Given the description of an element on the screen output the (x, y) to click on. 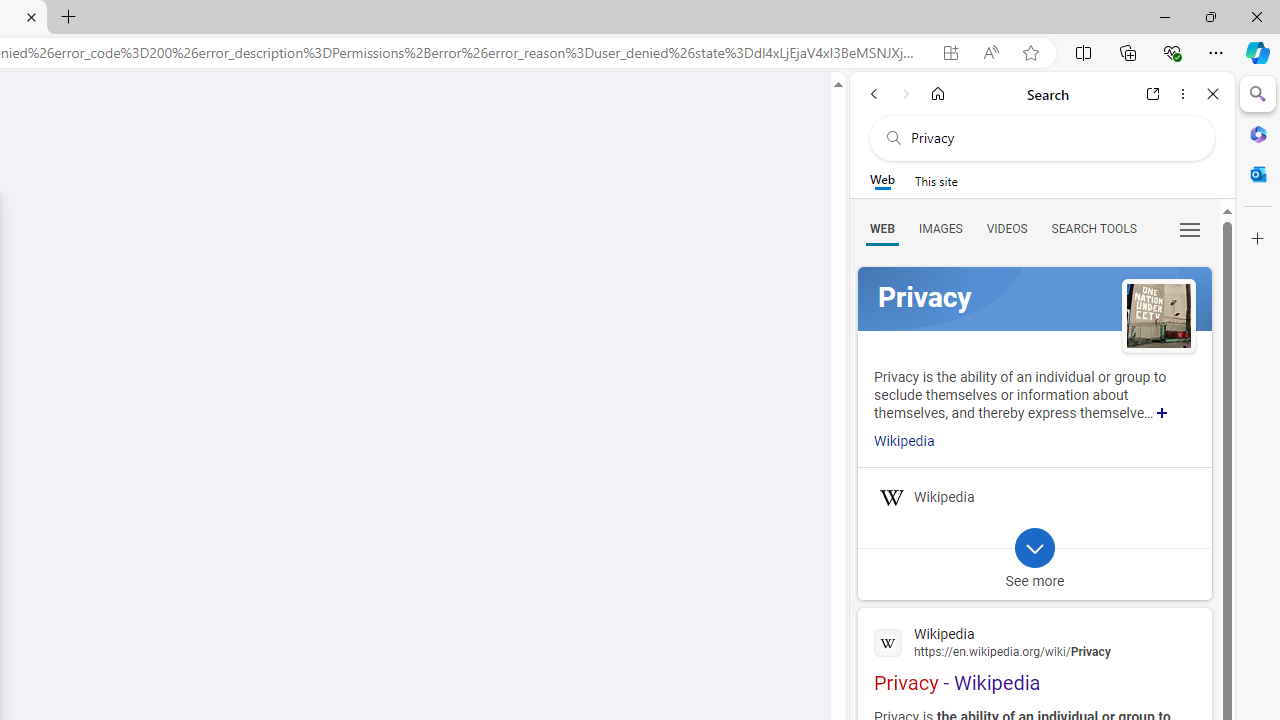
Show more (1162, 412)
